Given the description of an element on the screen output the (x, y) to click on. 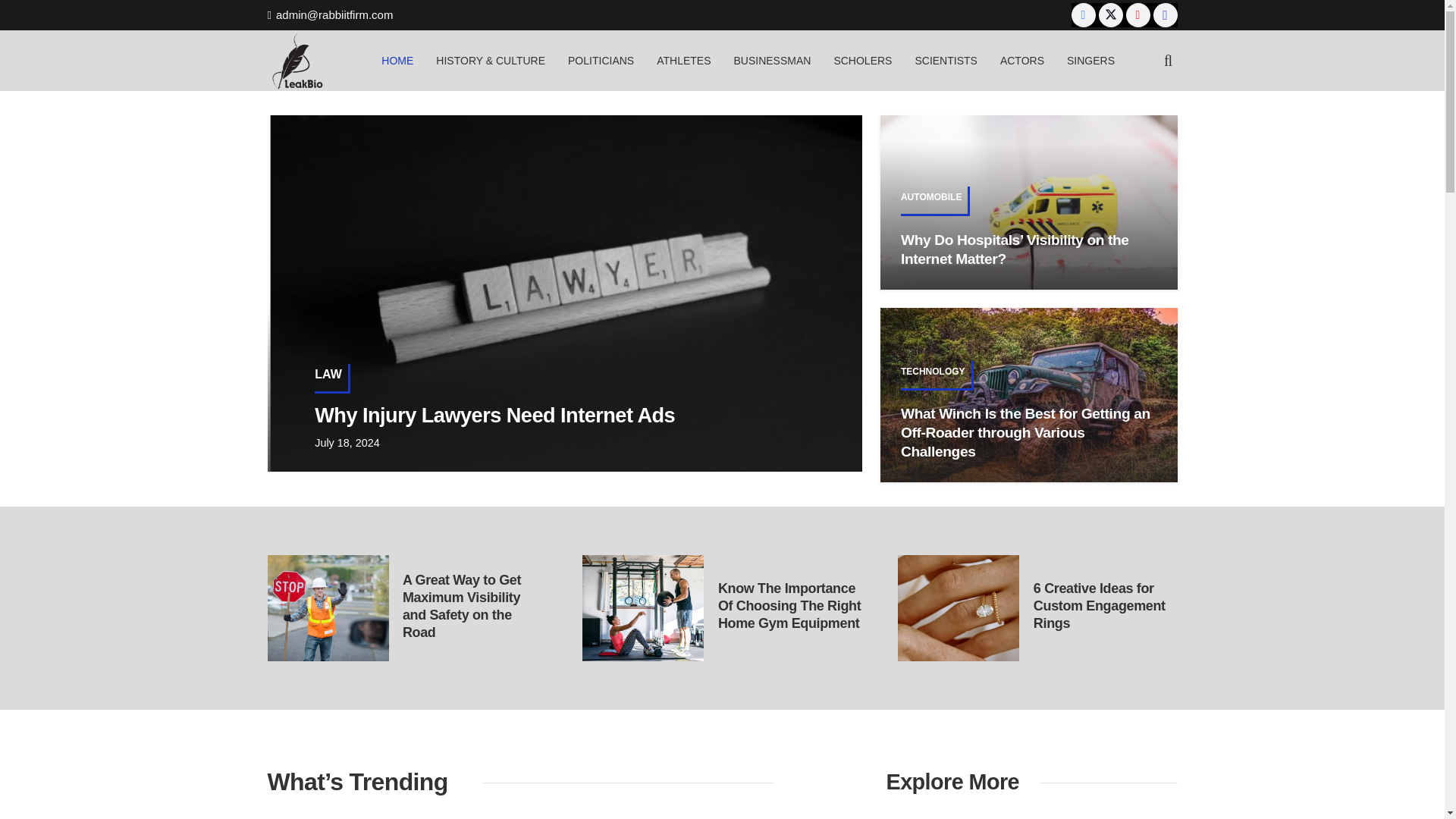
HOME (397, 60)
BUSINESSMAN (772, 60)
Facebook (1083, 15)
YouTube (1137, 15)
SCIENTISTS (945, 60)
SCHOLERS (862, 60)
ATHLETES (683, 60)
Twitter (1110, 15)
POLITICIANS (600, 60)
Instagram (1165, 15)
